Given the description of an element on the screen output the (x, y) to click on. 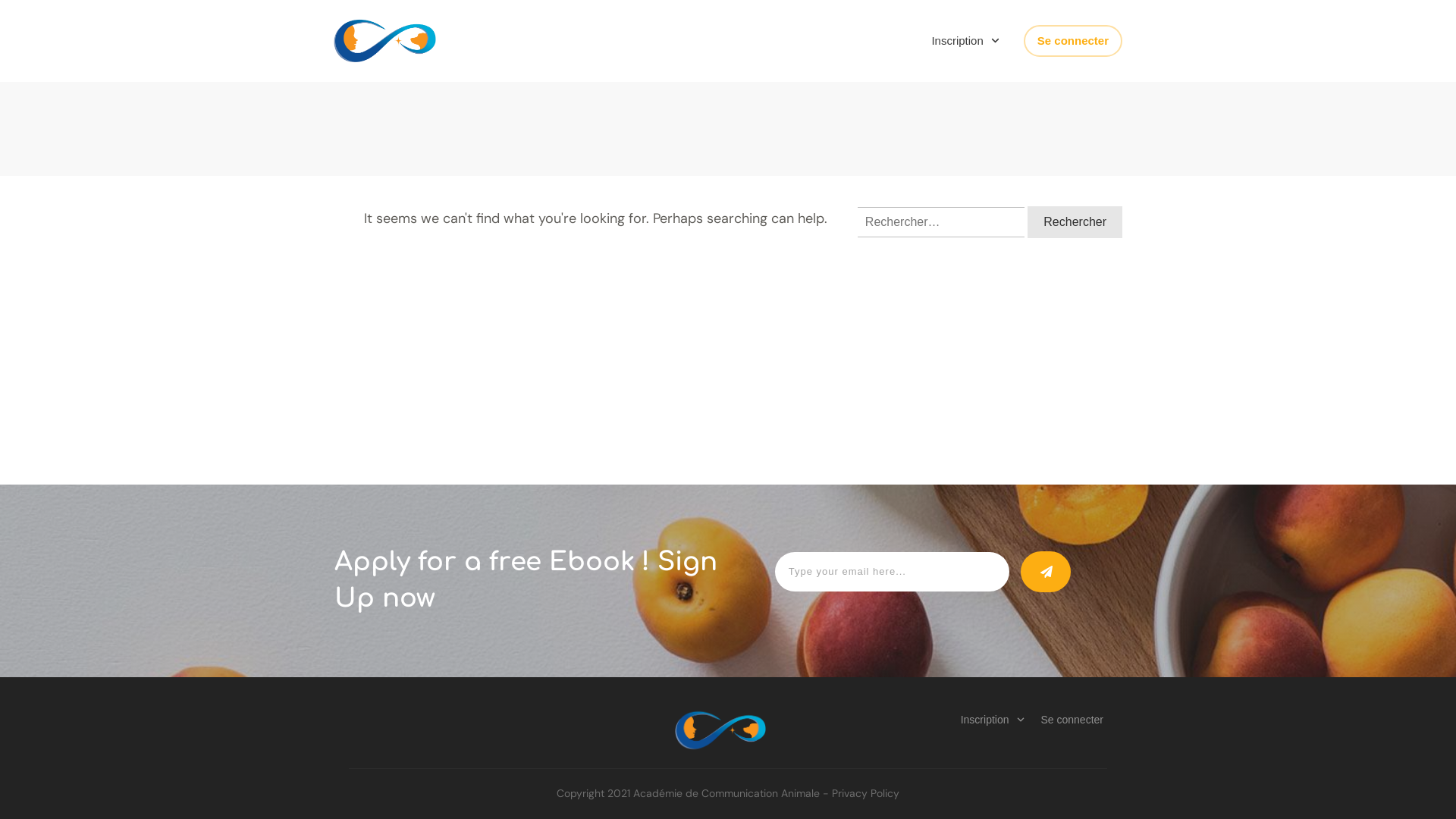
Privacy Policy Element type: text (865, 793)
Rechercher Element type: text (1074, 222)
Se connecter Element type: text (1071, 719)
Inscription Element type: text (965, 40)
Inscription Element type: text (993, 719)
Se connecter Element type: text (1072, 40)
